Given the description of an element on the screen output the (x, y) to click on. 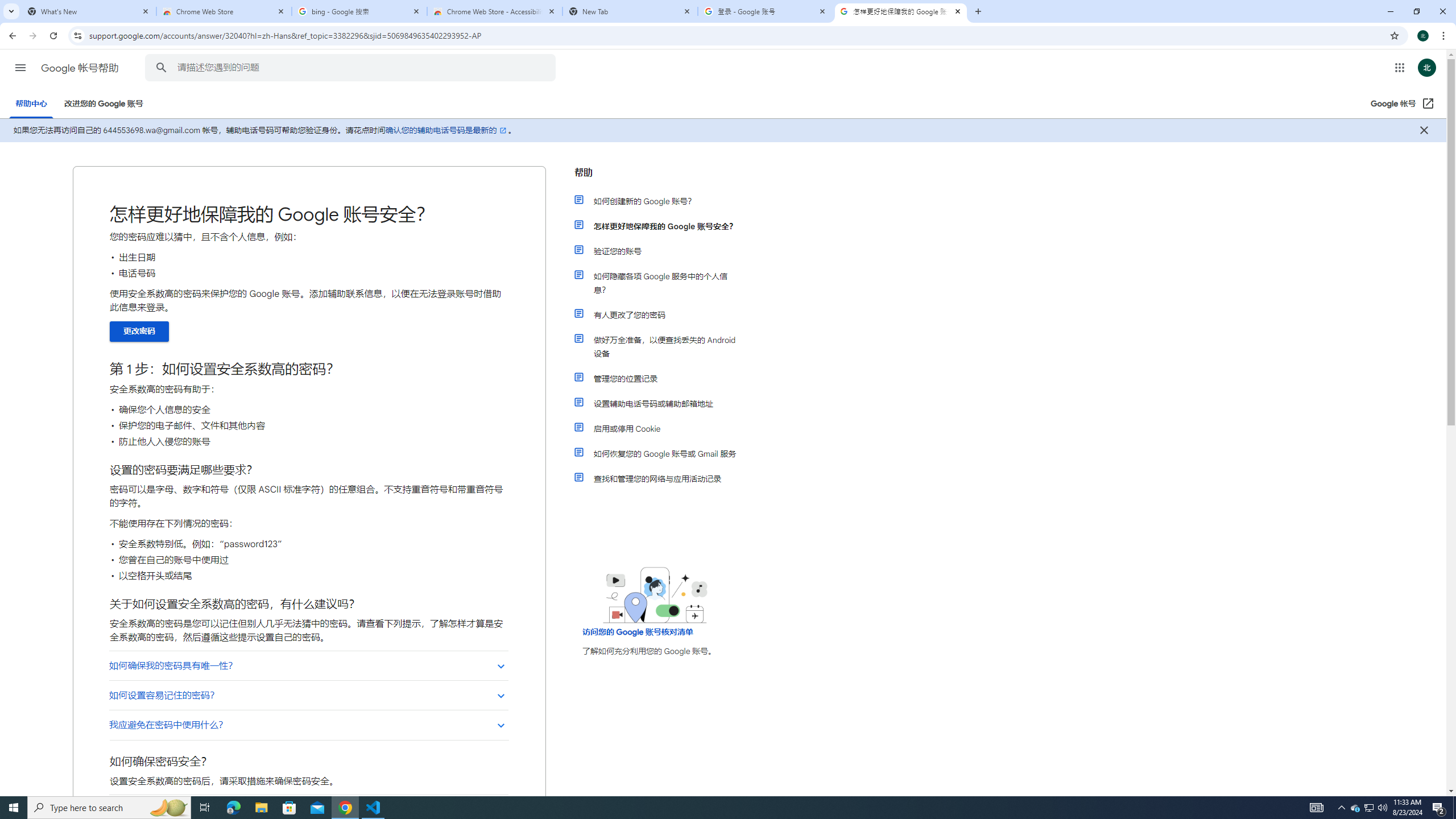
New Tab (630, 11)
